Given the description of an element on the screen output the (x, y) to click on. 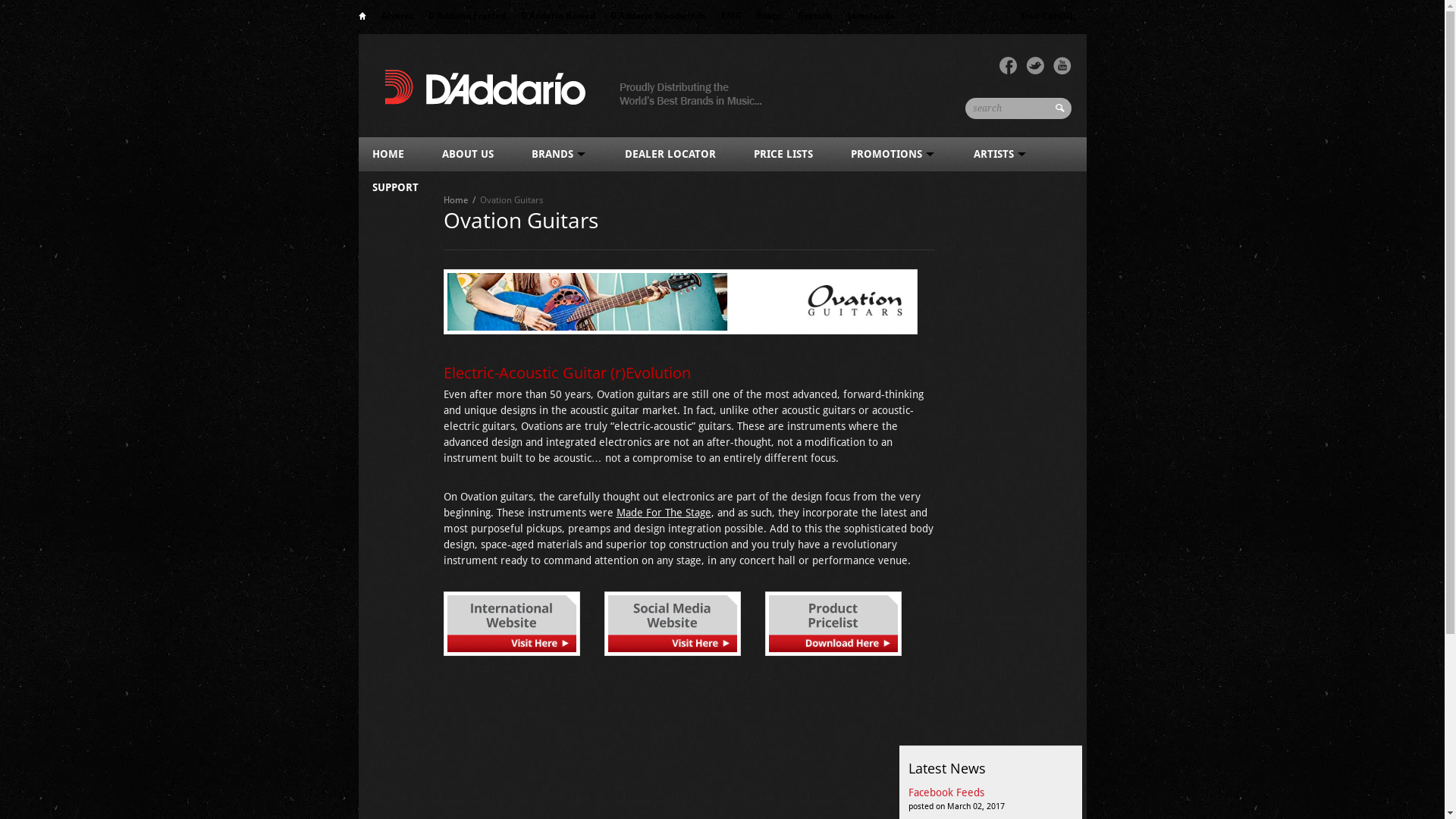
DAddario Australia Element type: hover (570, 85)
Gretsch Element type: text (814, 15)
Home Element type: text (361, 18)
D'Addario Woodwinds Element type: text (657, 15)
Watch DAddario Australia on YouTube Element type: text (1061, 65)
D'Addario Bowed Element type: text (557, 15)
Jamstands Element type: text (870, 15)
ARTISTS   Element type: text (1000, 153)
SUPPORT Element type: text (394, 187)
Alvarez Element type: text (396, 15)
Join DAddario Australia on Facebook Element type: text (1007, 65)
BRANDS   Element type: text (558, 153)
Evans Element type: text (769, 15)
ABOUT US Element type: text (466, 153)
PROMOTIONS   Element type: text (892, 153)
Facebook Feeds Element type: text (946, 792)
Follow DAddario Australia on Twitter Element type: text (1034, 65)
Search Element type: text (1060, 112)
Home Element type: text (454, 199)
HOME Element type: text (387, 153)
EMG Element type: text (730, 15)
DEALER LOCATOR Element type: text (669, 153)
PRICE LISTS Element type: text (783, 153)
D'Addario Fretted Element type: text (466, 15)
Your Cart(0) Element type: text (1045, 17)
